Given the description of an element on the screen output the (x, y) to click on. 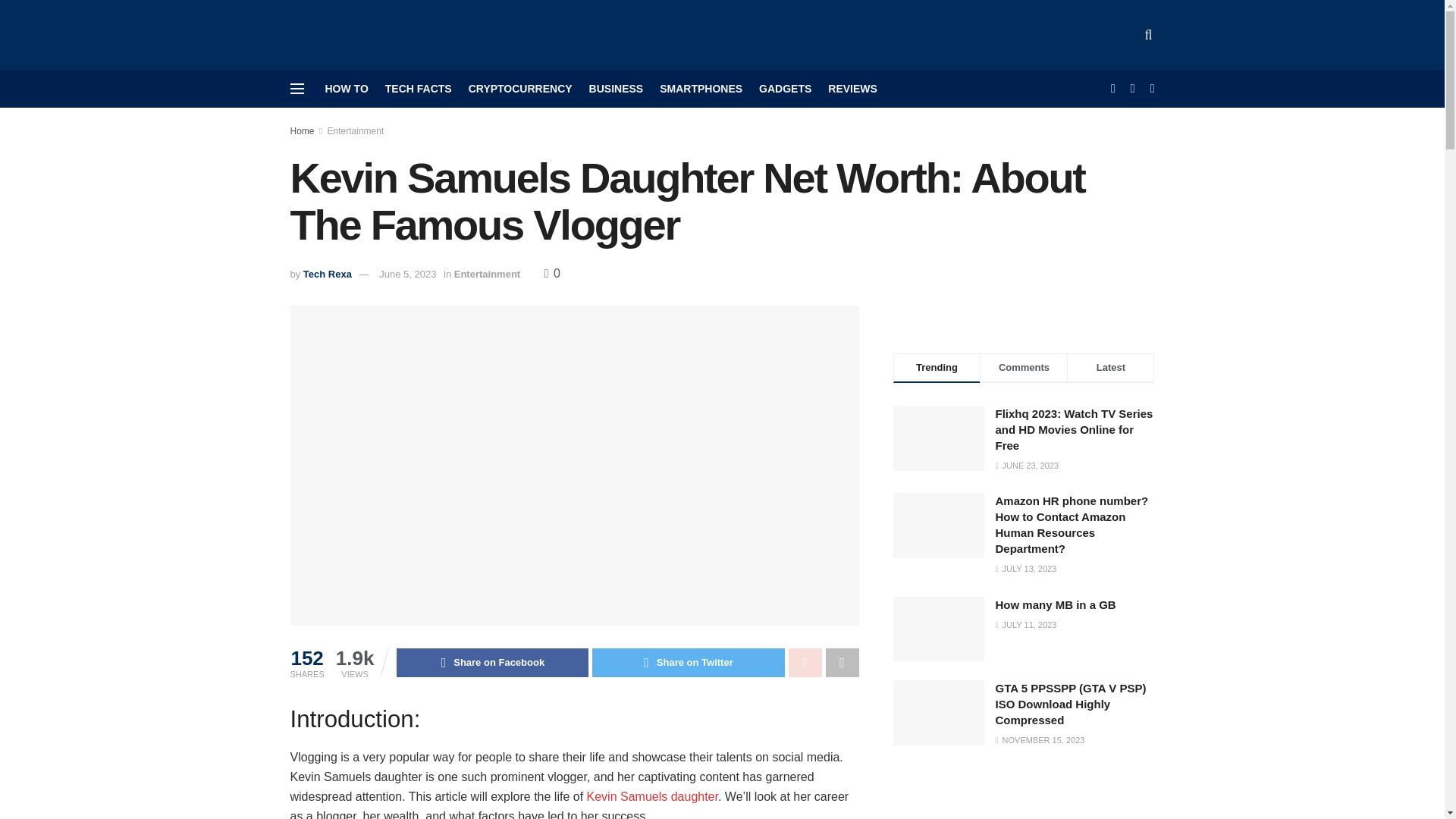
GADGETS (784, 88)
Share on Facebook (492, 662)
Entertainment (486, 274)
0 (552, 273)
BUSINESS (616, 88)
Share on Twitter (688, 662)
Tech Rexa (327, 274)
REVIEWS (852, 88)
Entertainment (355, 131)
TECH FACTS (418, 88)
